Given the description of an element on the screen output the (x, y) to click on. 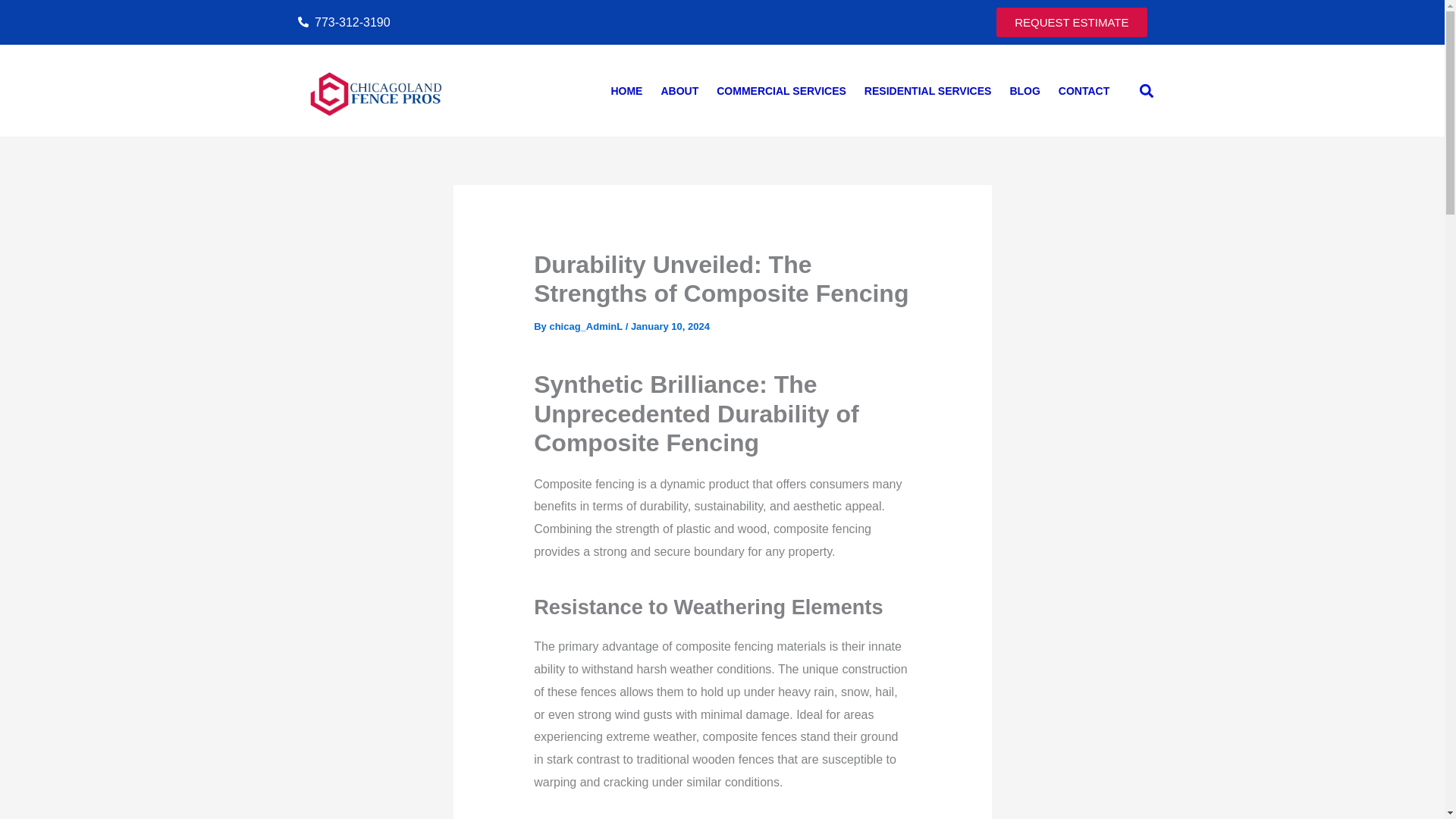
RESIDENTIAL SERVICES (928, 90)
ABOUT (678, 90)
BLOG (1024, 90)
773-312-3190 (505, 22)
REQUEST ESTIMATE (1071, 21)
CONTACT (1083, 90)
HOME (625, 90)
COMMERCIAL SERVICES (781, 90)
